Given the description of an element on the screen output the (x, y) to click on. 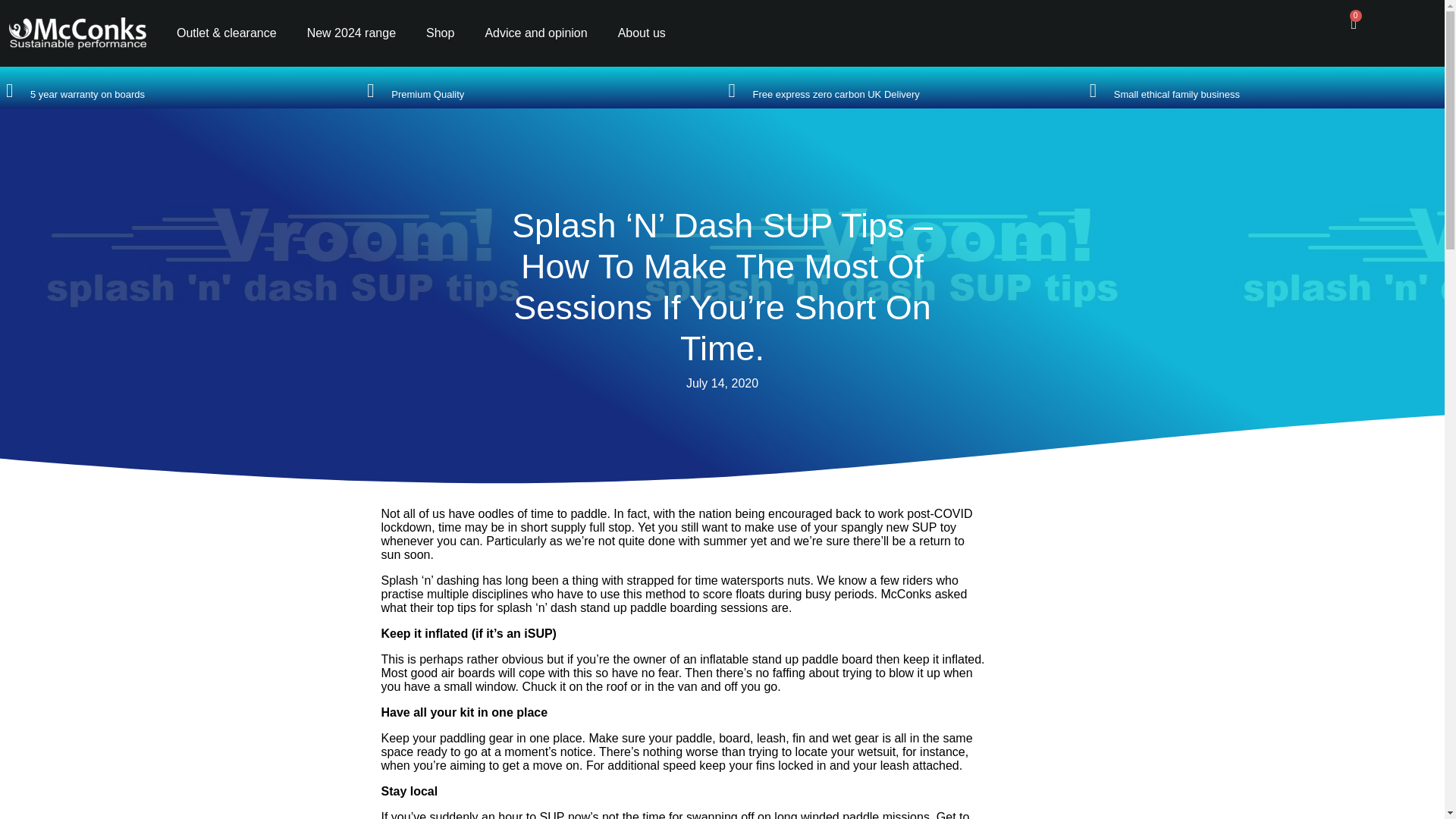
New 2024 range (351, 32)
Advice and opinion (535, 32)
About us (641, 32)
Shop (439, 32)
